Given the description of an element on the screen output the (x, y) to click on. 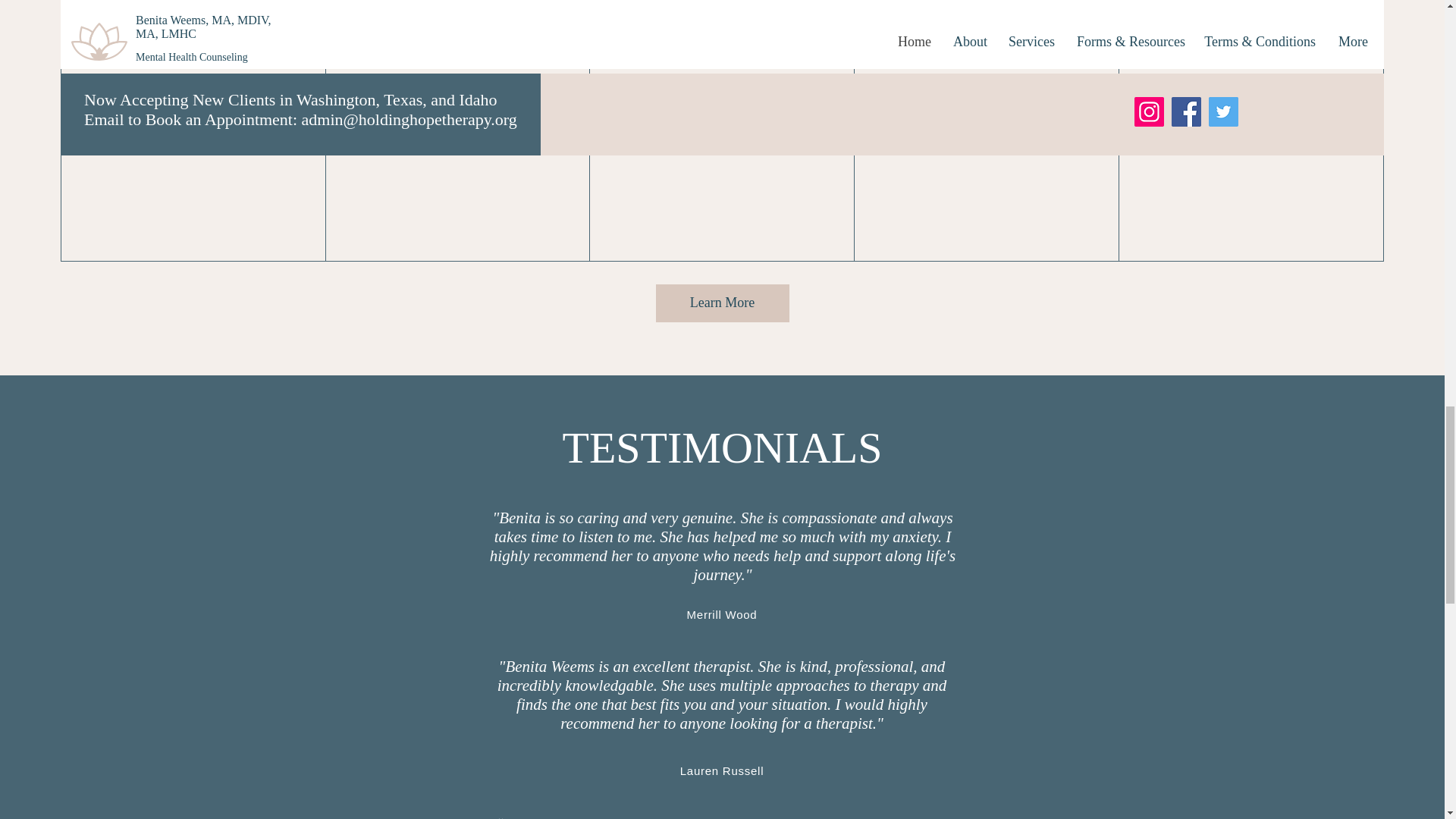
Learn More (722, 303)
